Given the description of an element on the screen output the (x, y) to click on. 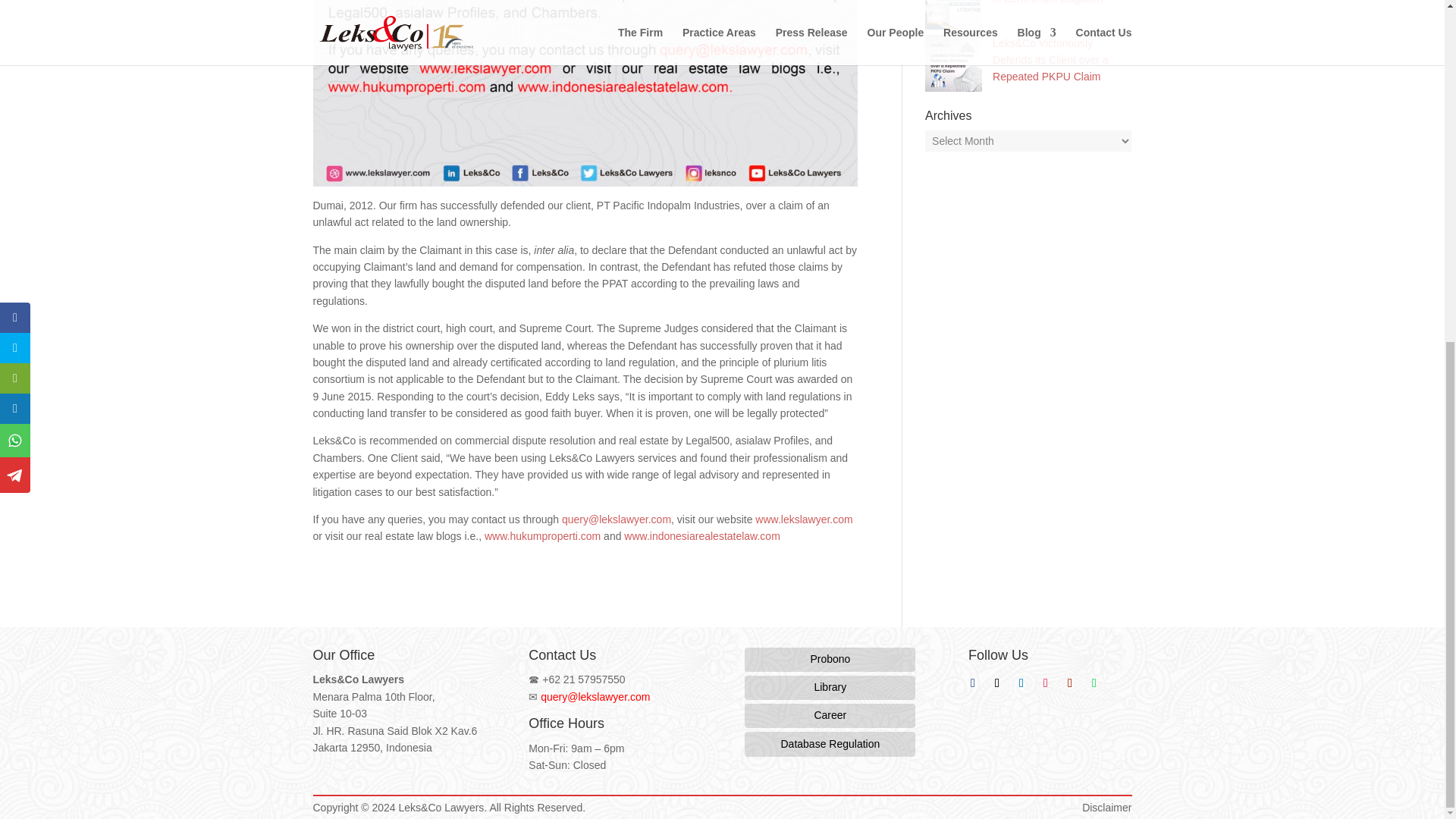
www.lekslawyer.com (803, 519)
Follow on LinkedIn (1021, 682)
Follow on Facebook (972, 682)
Follow on Spotify (1093, 682)
Follow on Youtube (1069, 682)
Follow on X (997, 682)
www.hukumproperti.com (541, 535)
Follow on Instagram (1045, 682)
www.indonesiarealestatelaw.com (701, 535)
